Given the description of an element on the screen output the (x, y) to click on. 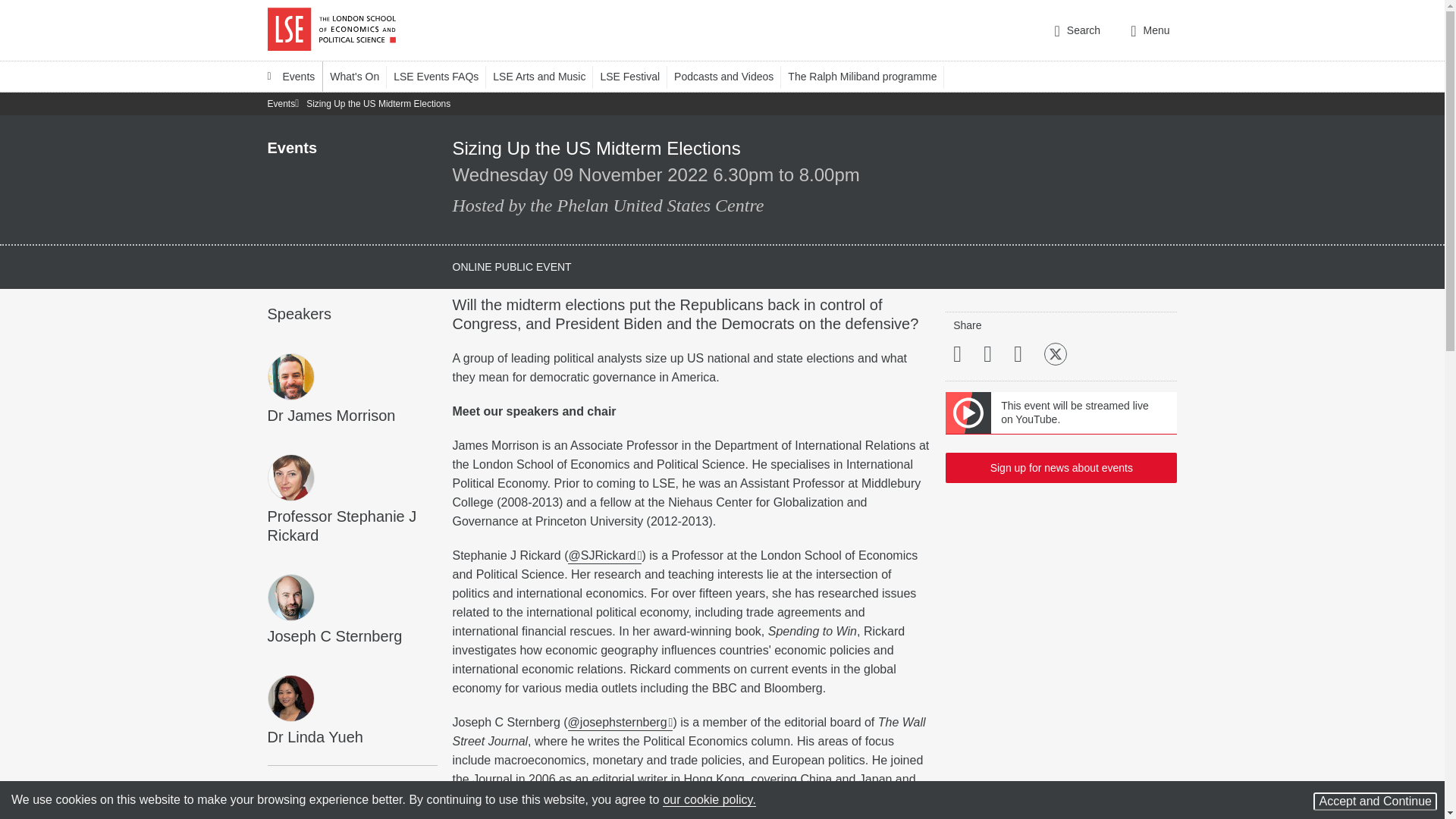
Podcasts and Videos (730, 76)
London School of Economics and Political Science (330, 30)
LSE Events (291, 76)
LSE Festival (636, 76)
Podcasts and Videos (730, 76)
The Ralph Miliband Programme (868, 76)
LSE Events FAQs (443, 76)
LSE Festival (636, 76)
The Ralph Miliband programme (868, 76)
Events (291, 76)
What's on (361, 76)
What's On (361, 76)
our cookie policy. (708, 799)
LSE Arts and Music (546, 76)
LSE Events FAQ (443, 76)
